Given the description of an element on the screen output the (x, y) to click on. 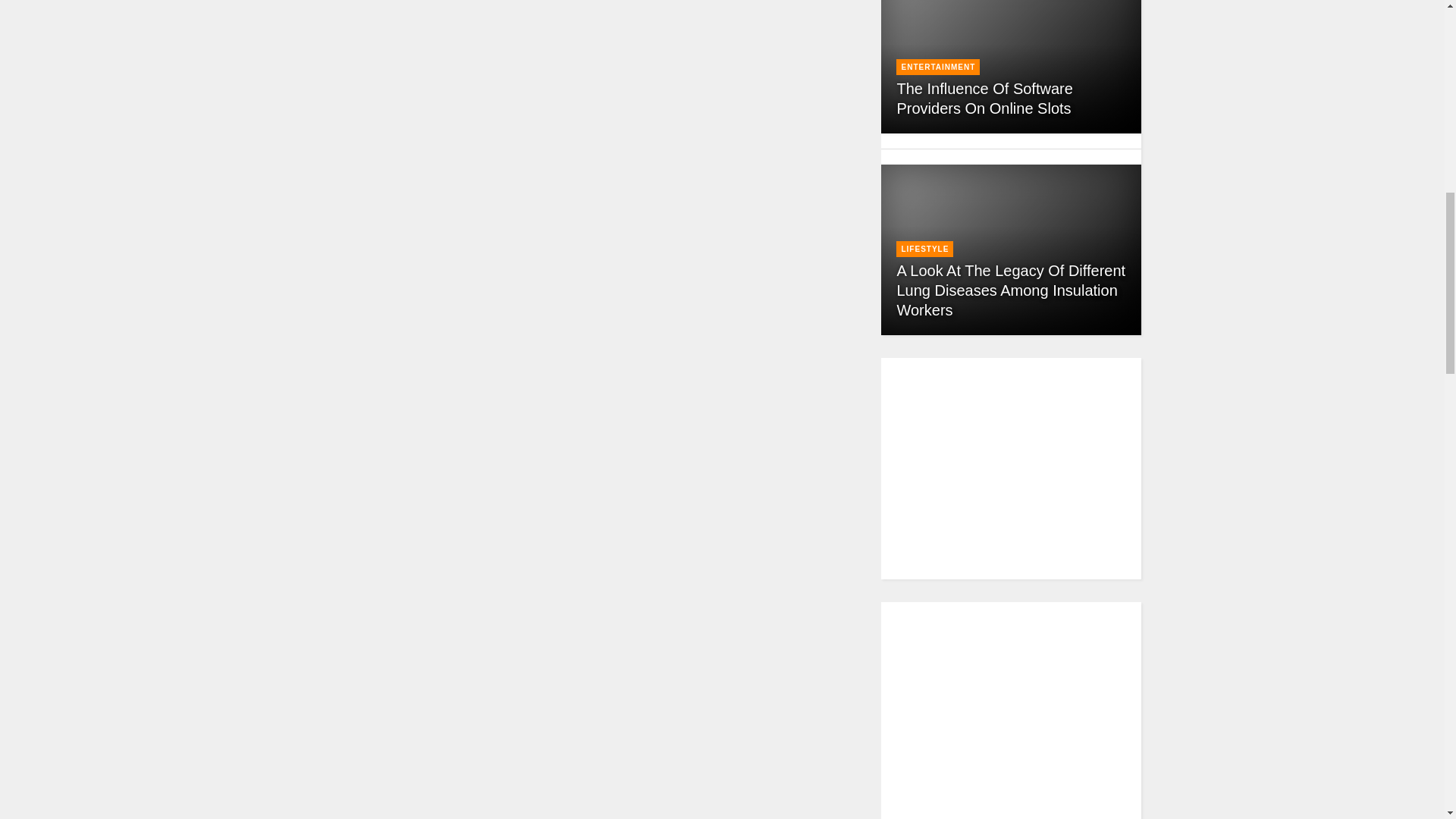
The Influence Of Software Providers On Online Slots (983, 98)
The Influence Of Software Providers On Online Slots (983, 98)
ENTERTAINMENT (938, 66)
LIFESTYLE (925, 248)
